Given the description of an element on the screen output the (x, y) to click on. 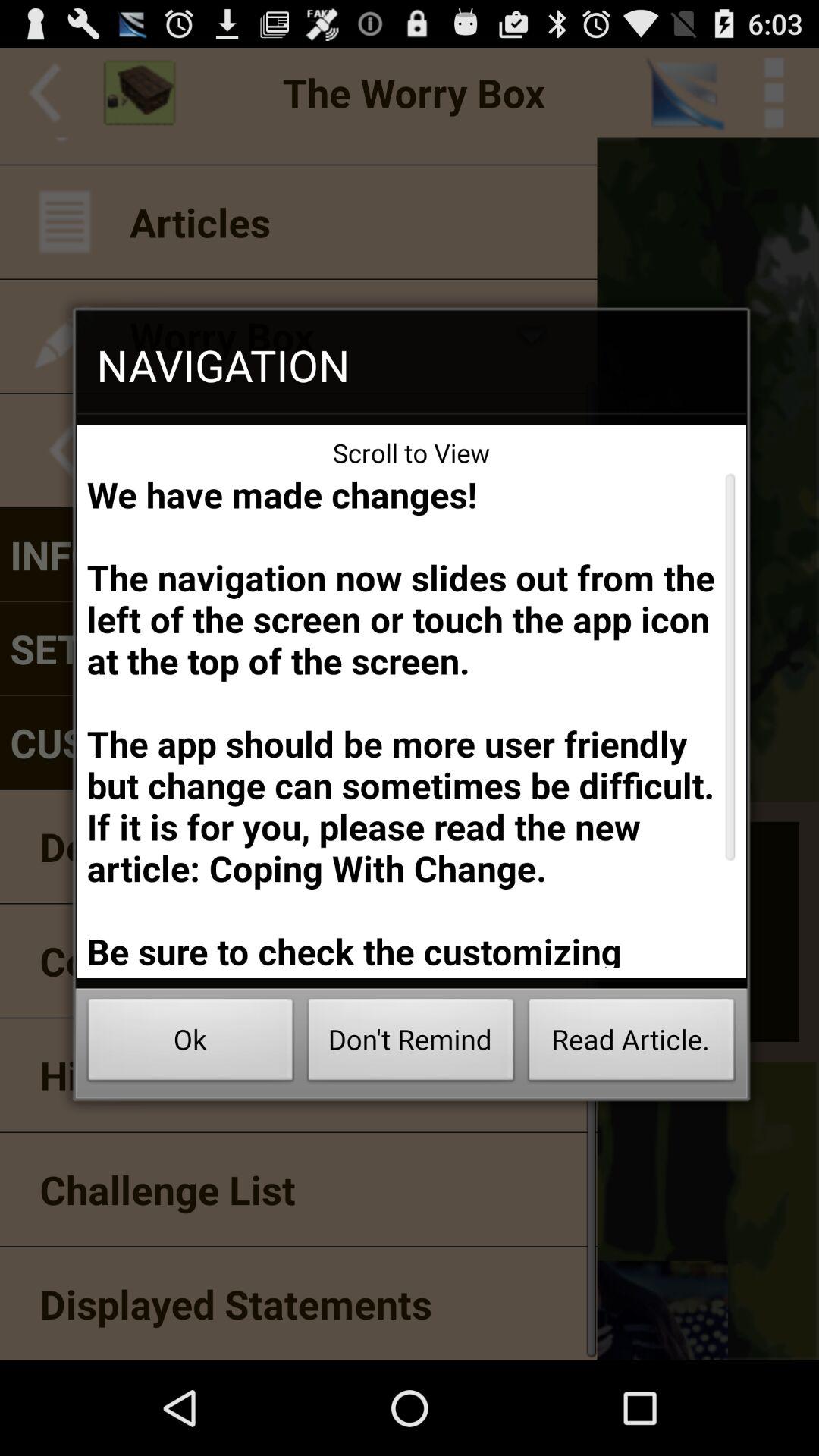
jump until ok item (190, 1044)
